Given the description of an element on the screen output the (x, y) to click on. 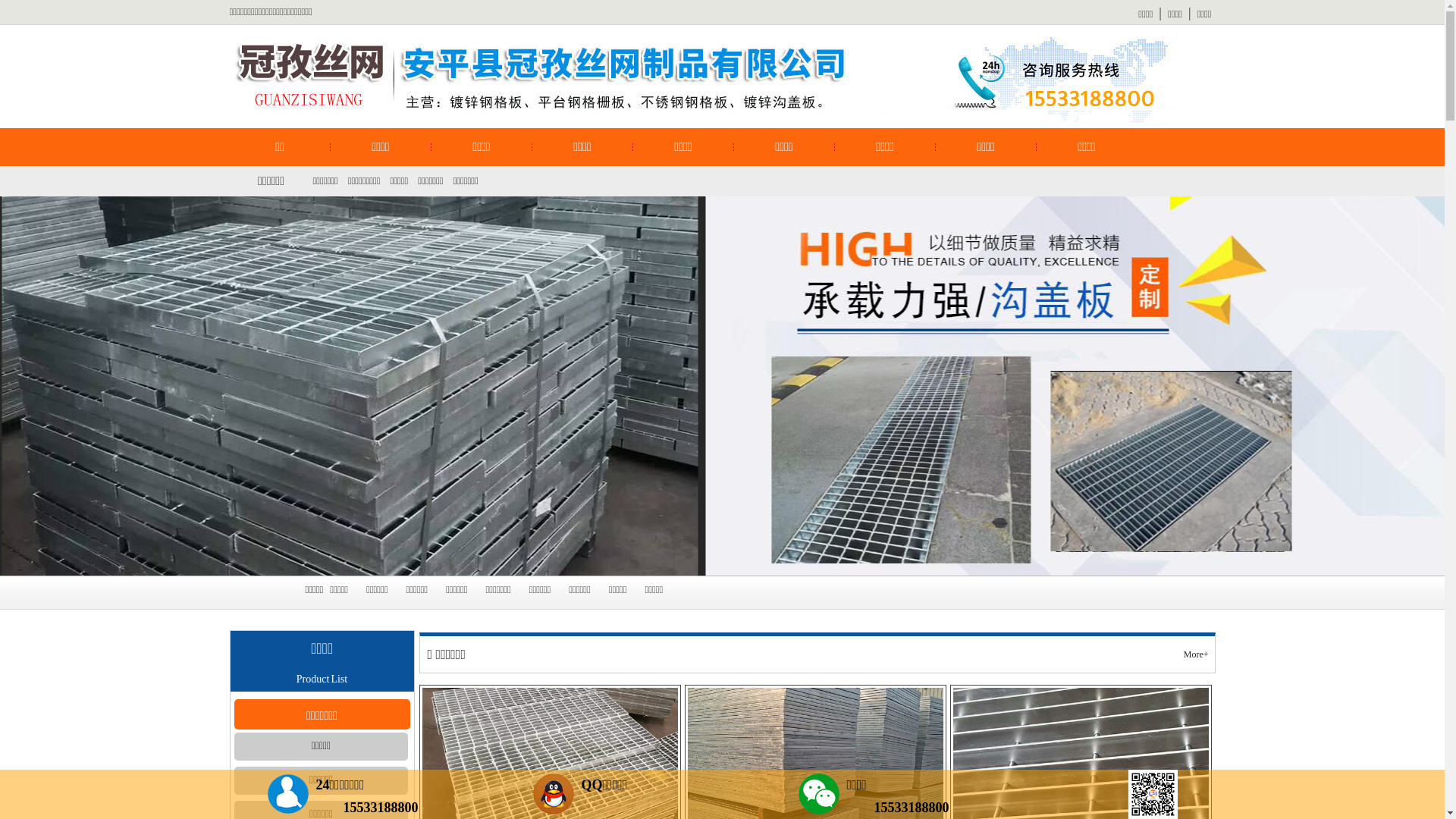
More+ Element type: text (1195, 654)
